Given the description of an element on the screen output the (x, y) to click on. 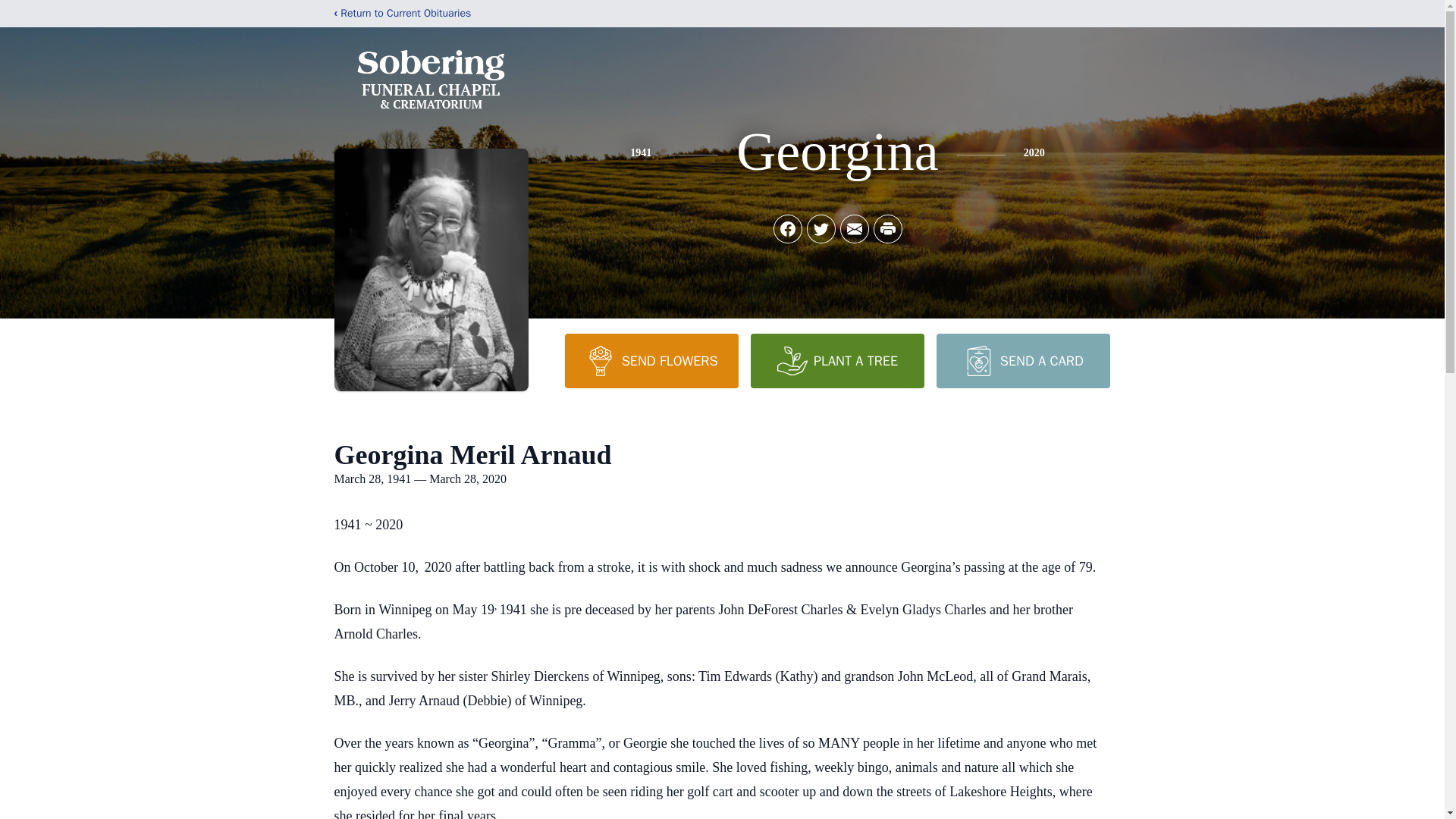
PLANT A TREE (837, 360)
SEND FLOWERS (651, 360)
SEND A CARD (1022, 360)
